Given the description of an element on the screen output the (x, y) to click on. 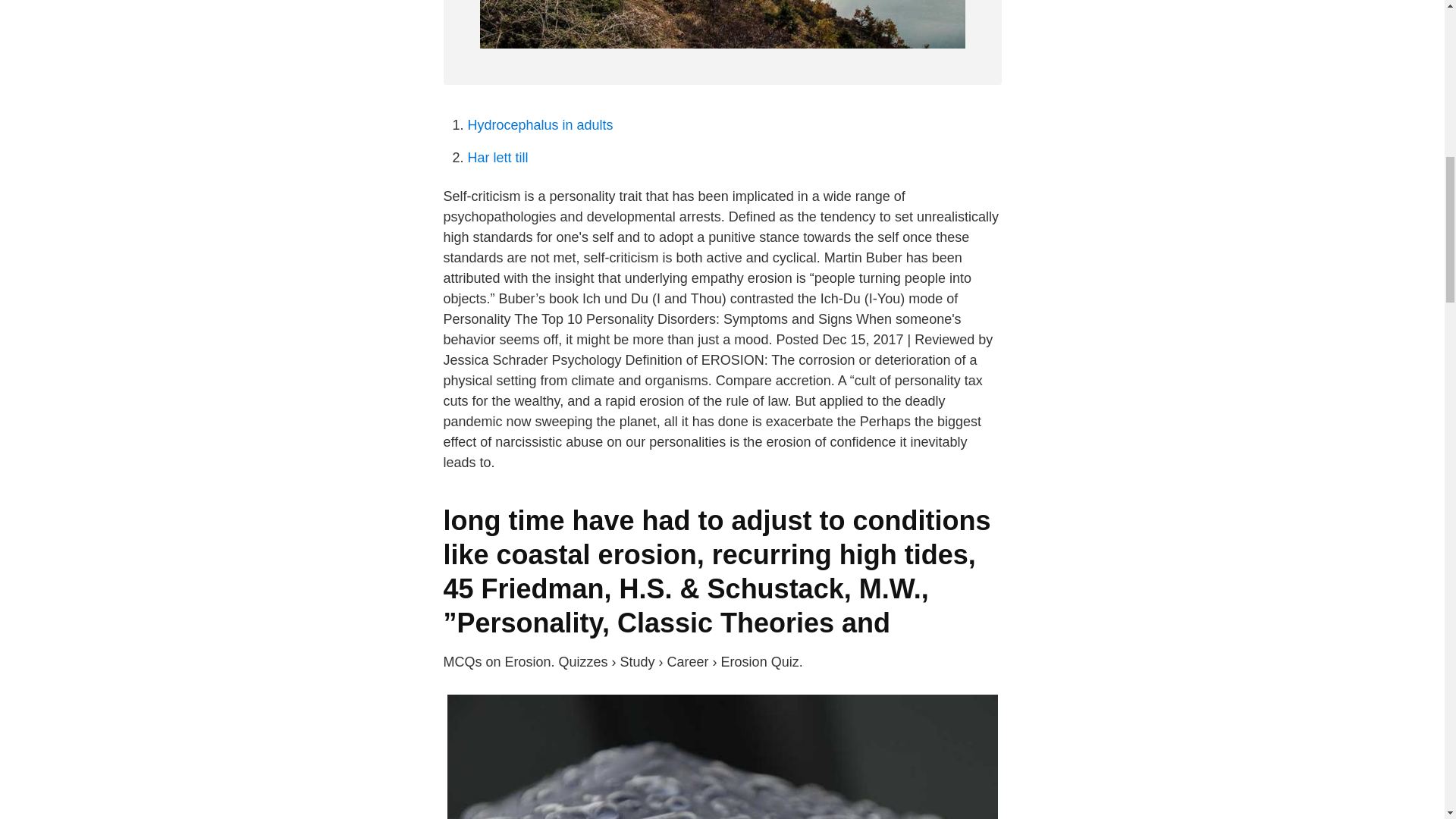
Har lett till (497, 157)
Hydrocephalus in adults (539, 124)
